Given the description of an element on the screen output the (x, y) to click on. 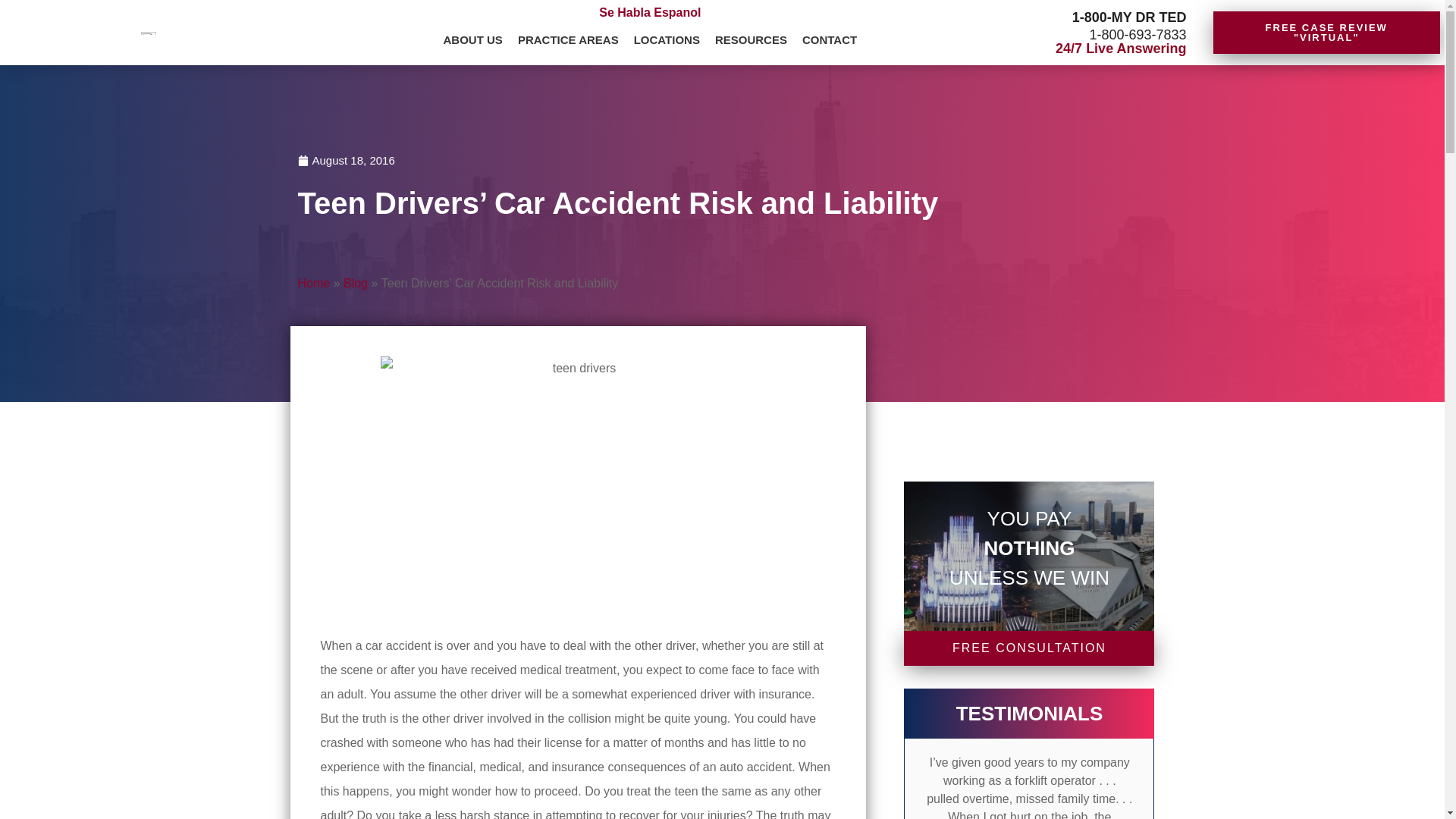
PRACTICE AREAS (568, 40)
Se Habla Espanol (649, 11)
ABOUT US (473, 40)
LOCATIONS (666, 40)
